Given the description of an element on the screen output the (x, y) to click on. 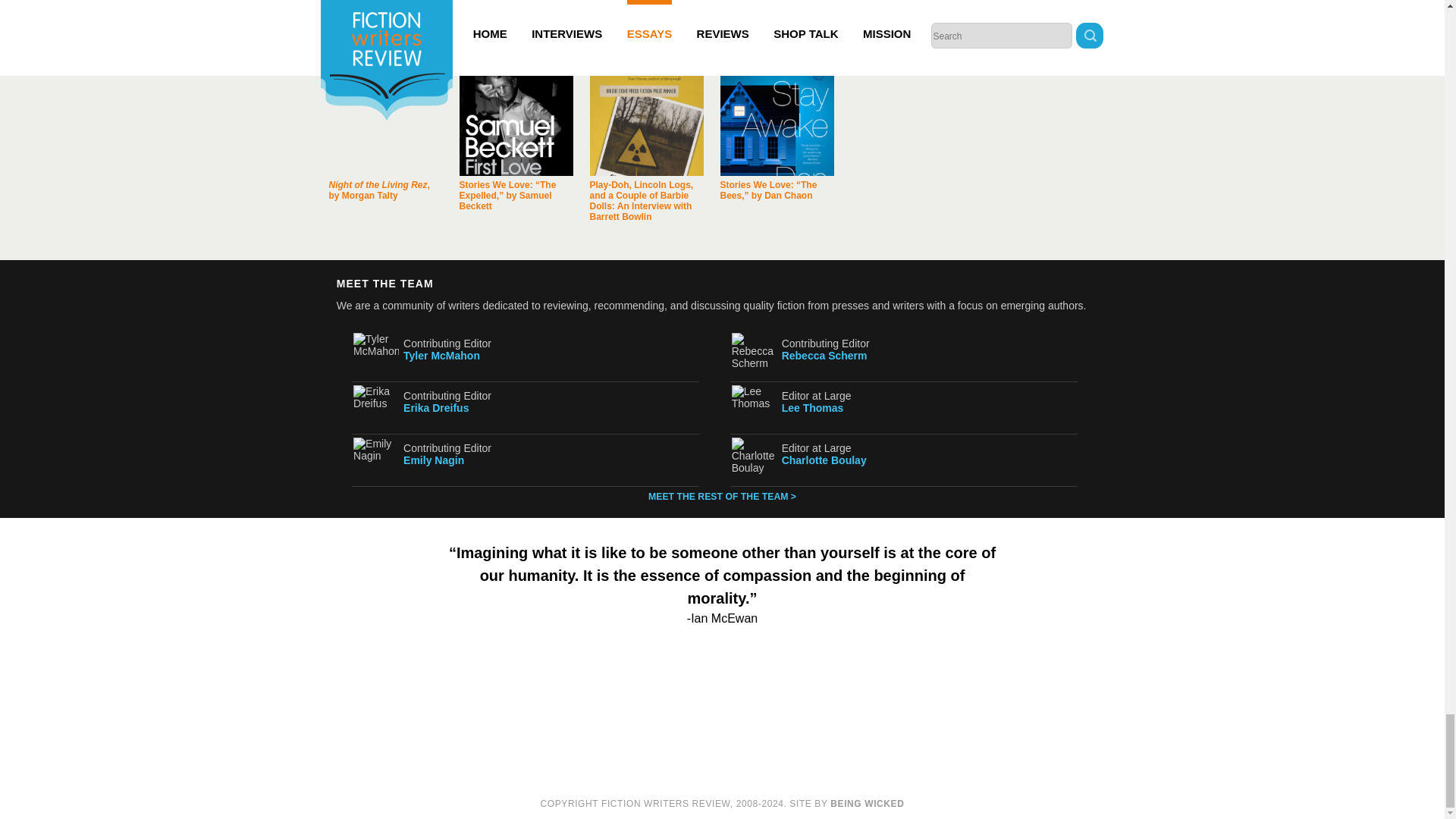
Night of the Living Rez, by Morgan Talty (379, 189)
Night of the Living Rez, by Morgan Talty (379, 189)
Night of the Living Rez, by Morgan Talty (385, 119)
Being Wicked: Creative, Clever, Fun (866, 803)
